Given the description of an element on the screen output the (x, y) to click on. 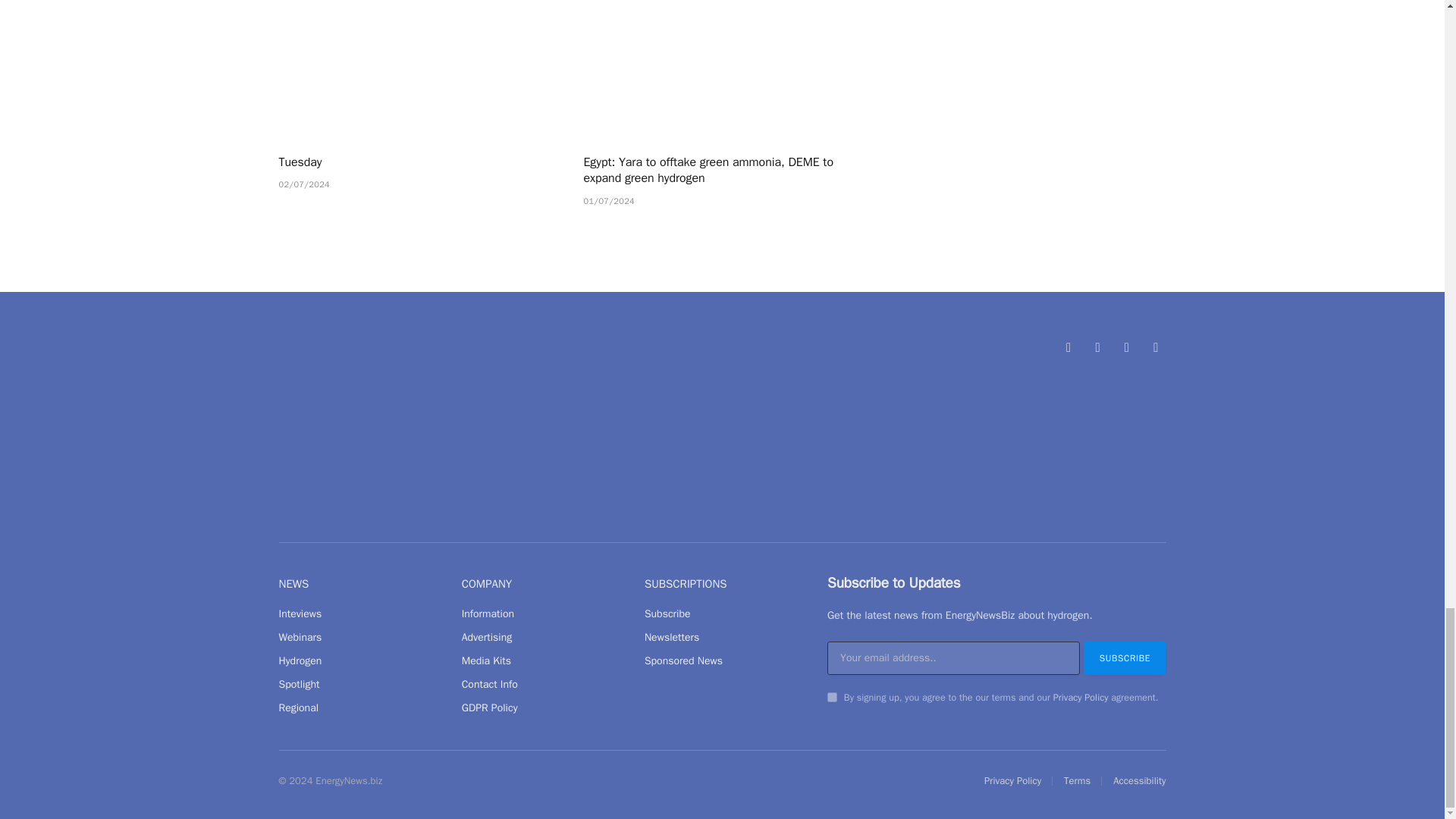
Subscribe (1124, 657)
on (832, 696)
